Given the description of an element on the screen output the (x, y) to click on. 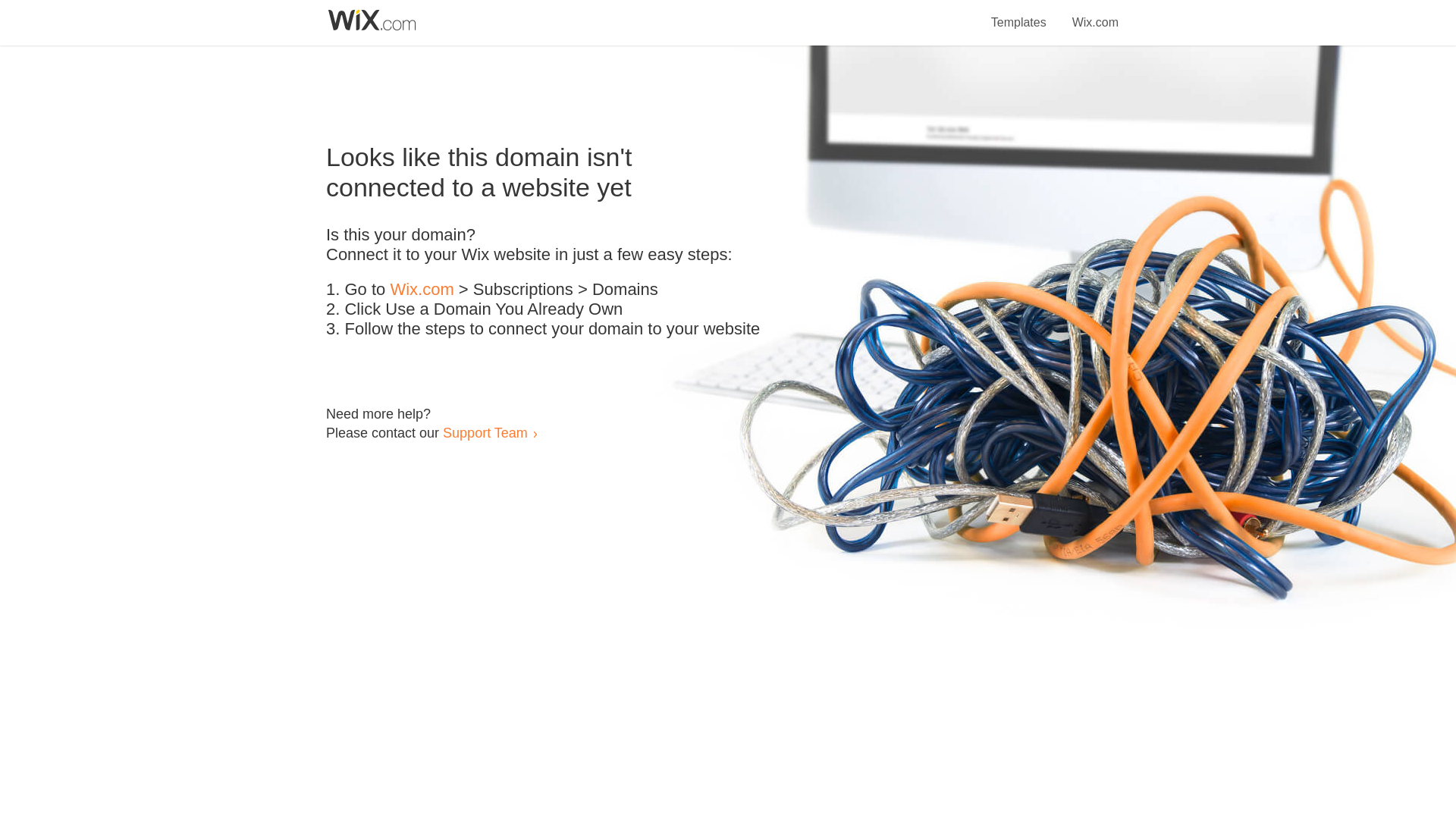
Wix.com (421, 289)
Support Team (484, 432)
Templates (1018, 14)
Wix.com (1095, 14)
